Given the description of an element on the screen output the (x, y) to click on. 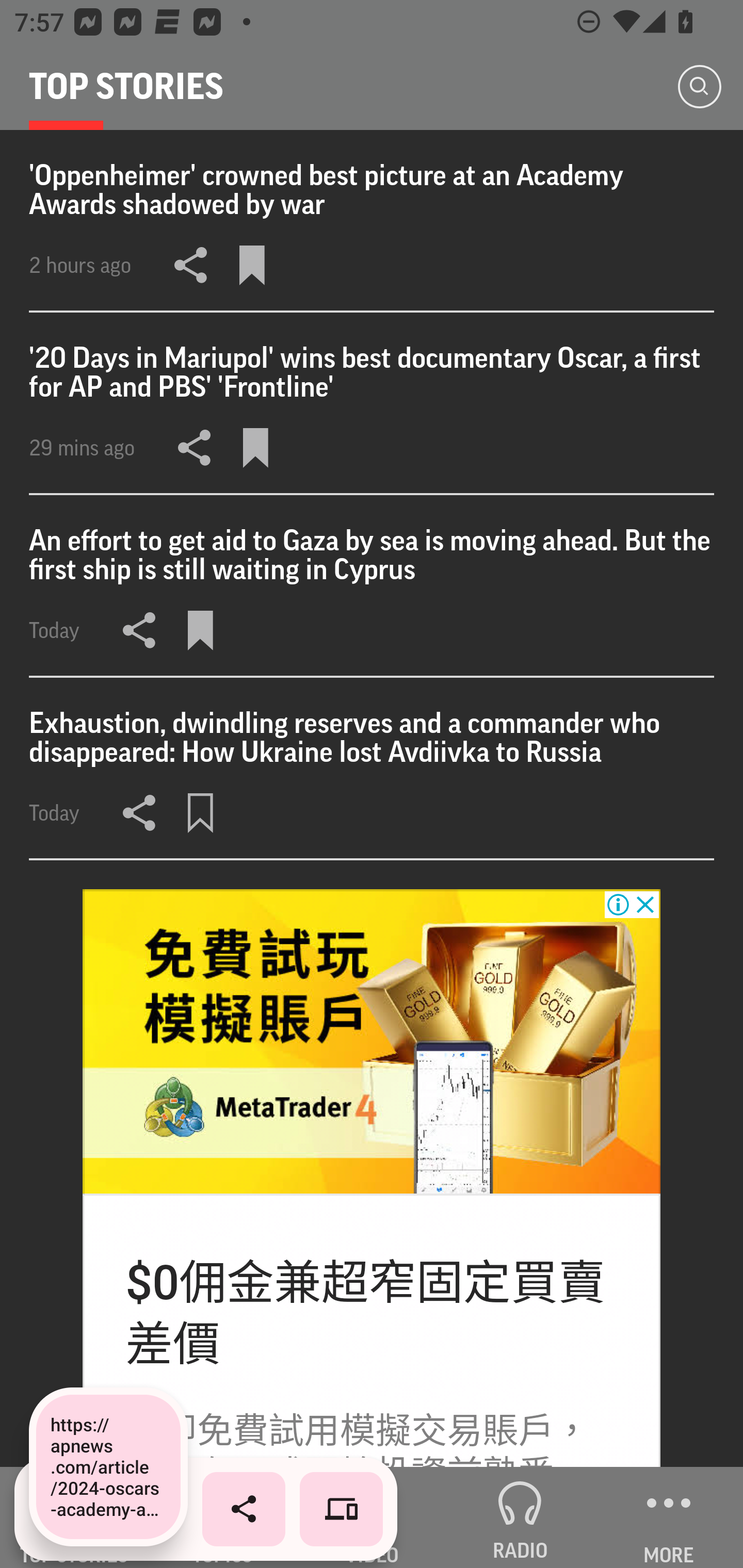
$0佣金兼超窄固定買賣 差價 $0佣金兼超窄固定買賣 差價 (365, 1313)
TOPICS (222, 1517)
VIDEO (371, 1517)
RADIO (519, 1517)
MORE (668, 1517)
